Given the description of an element on the screen output the (x, y) to click on. 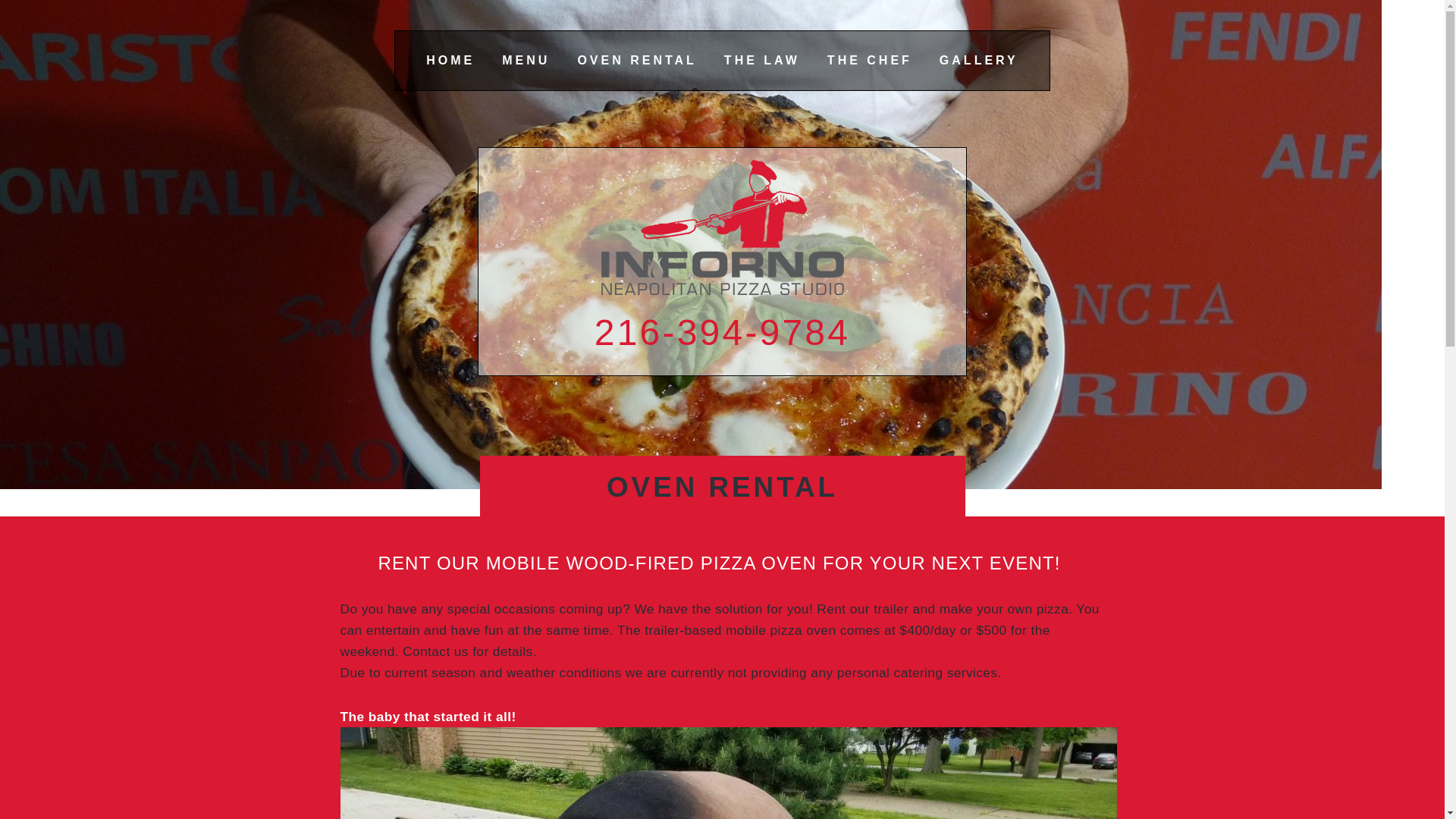
216-394-9784 (722, 332)
THE CHEF (869, 60)
OVEN RENTAL (635, 60)
GALLERY (978, 60)
THE LAW (761, 60)
